Given the description of an element on the screen output the (x, y) to click on. 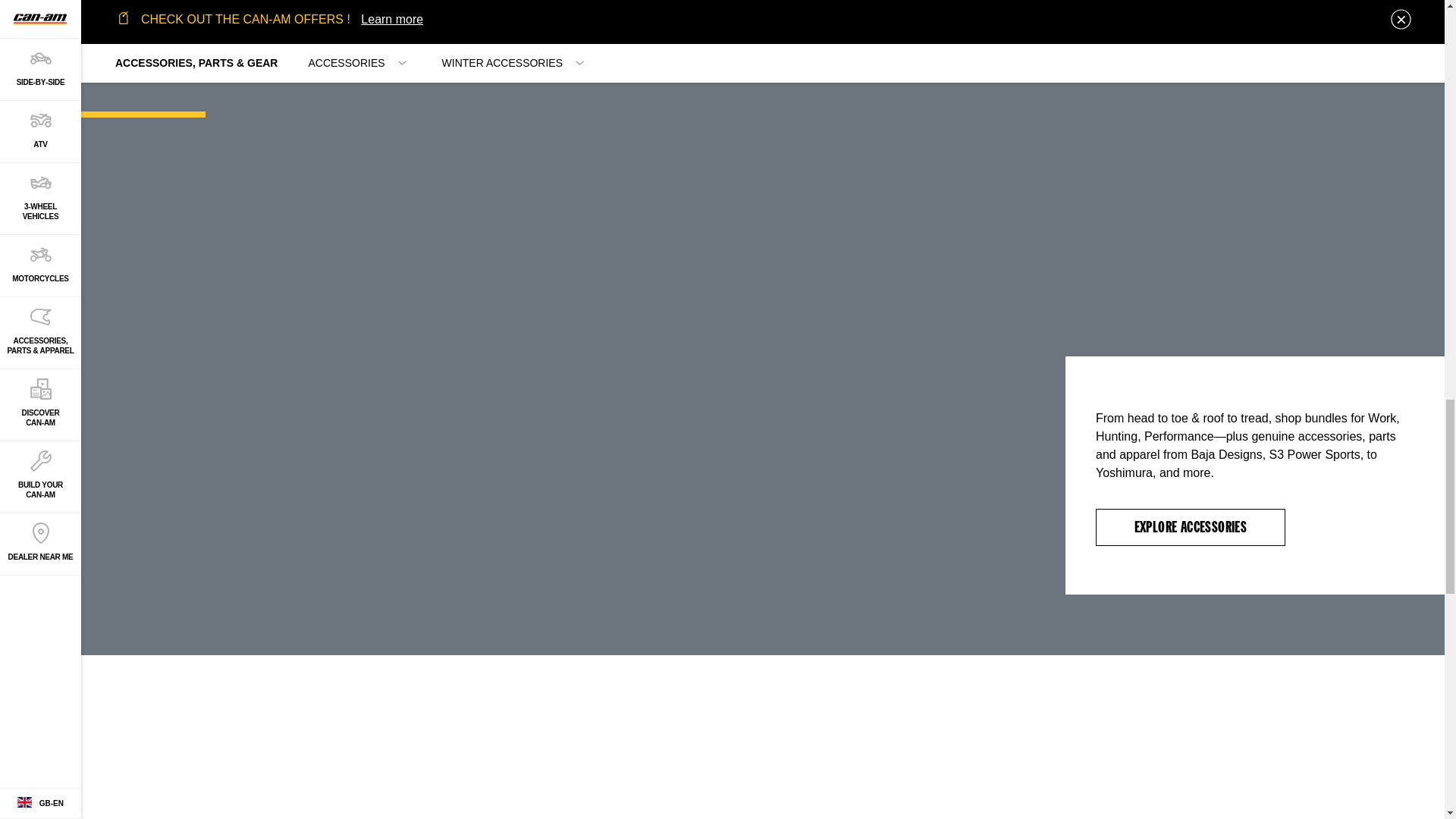
EXPLORE ACCESSORIES (1190, 527)
A man with his phone on an ATV (421, 737)
